Given the description of an element on the screen output the (x, y) to click on. 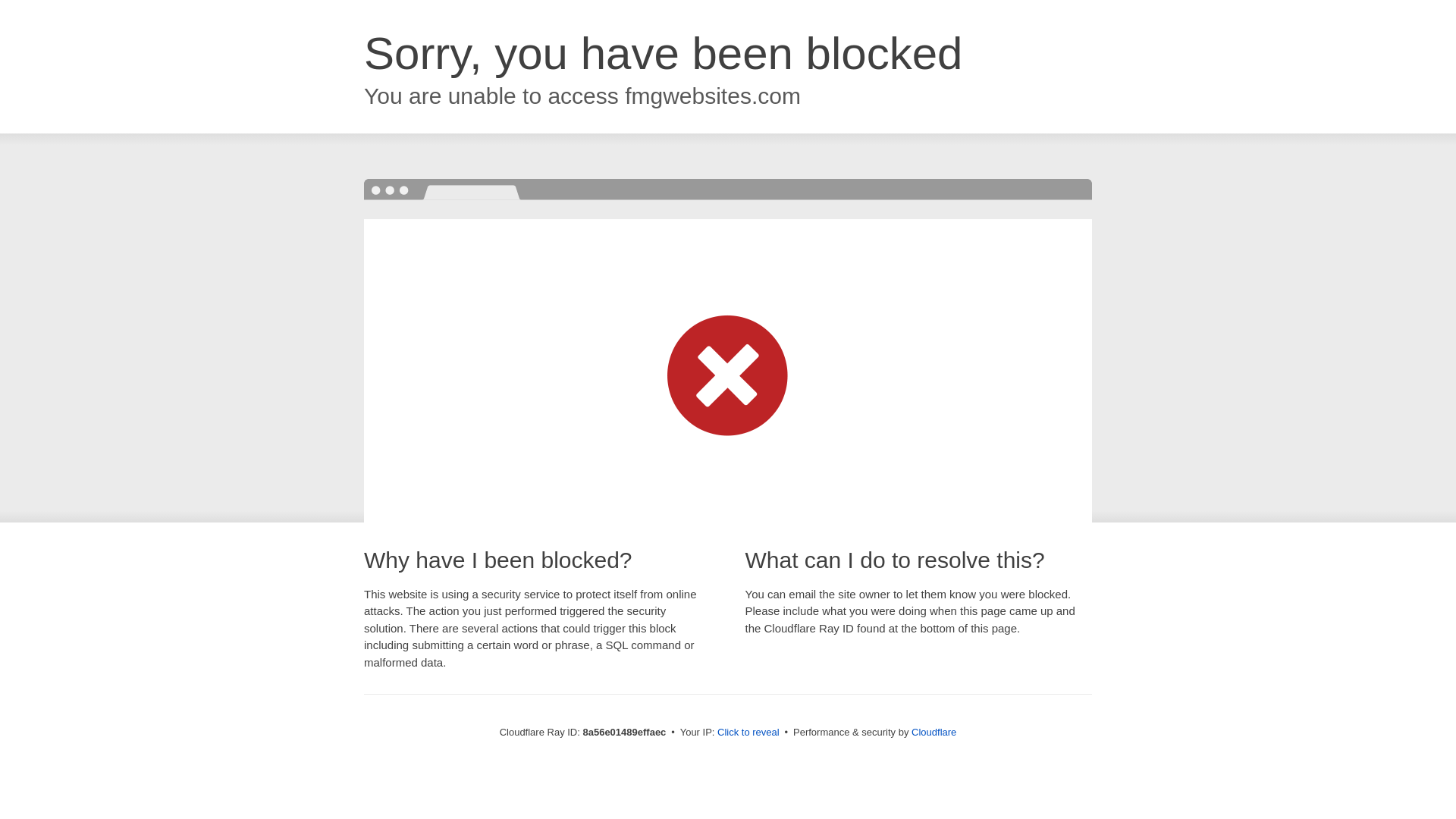
Cloudflare (933, 731)
Click to reveal (747, 732)
